Given the description of an element on the screen output the (x, y) to click on. 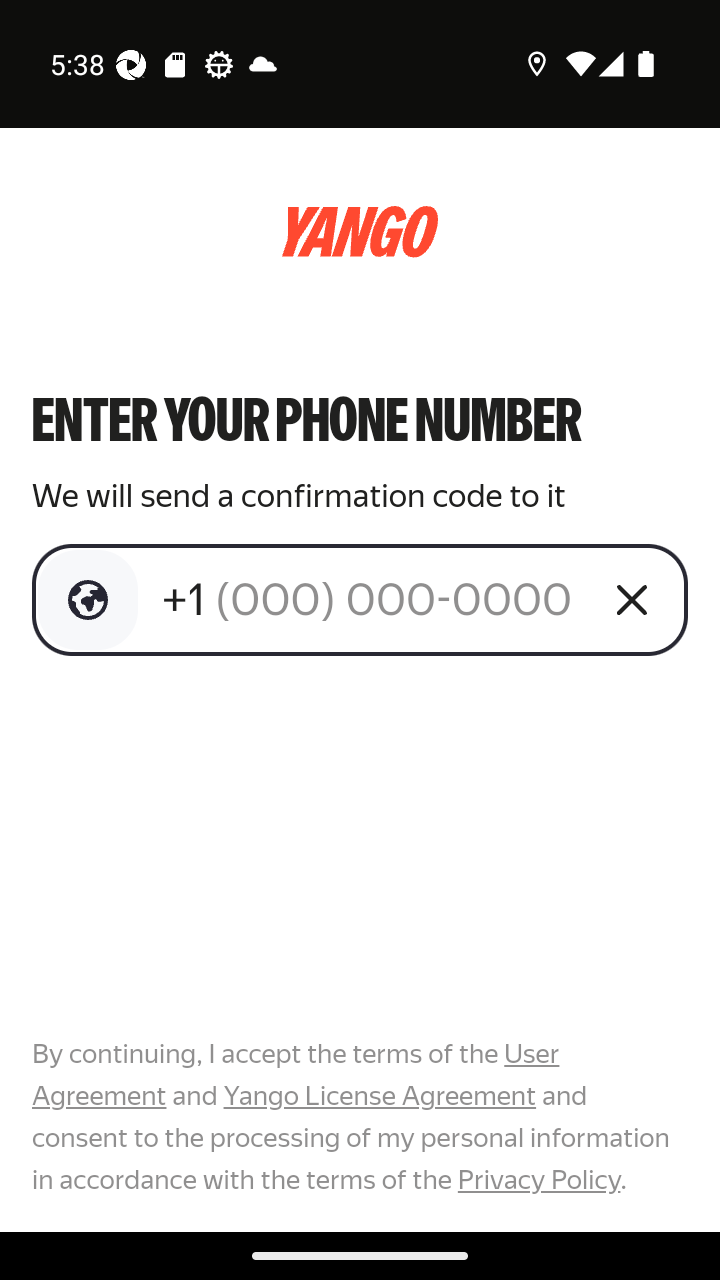
logo (359, 231)
  (88, 600)
+1 (372, 599)
User Agreement (295, 1075)
Yango License Agreement (379, 1096)
Privacy Policy (538, 1179)
